Given the description of an element on the screen output the (x, y) to click on. 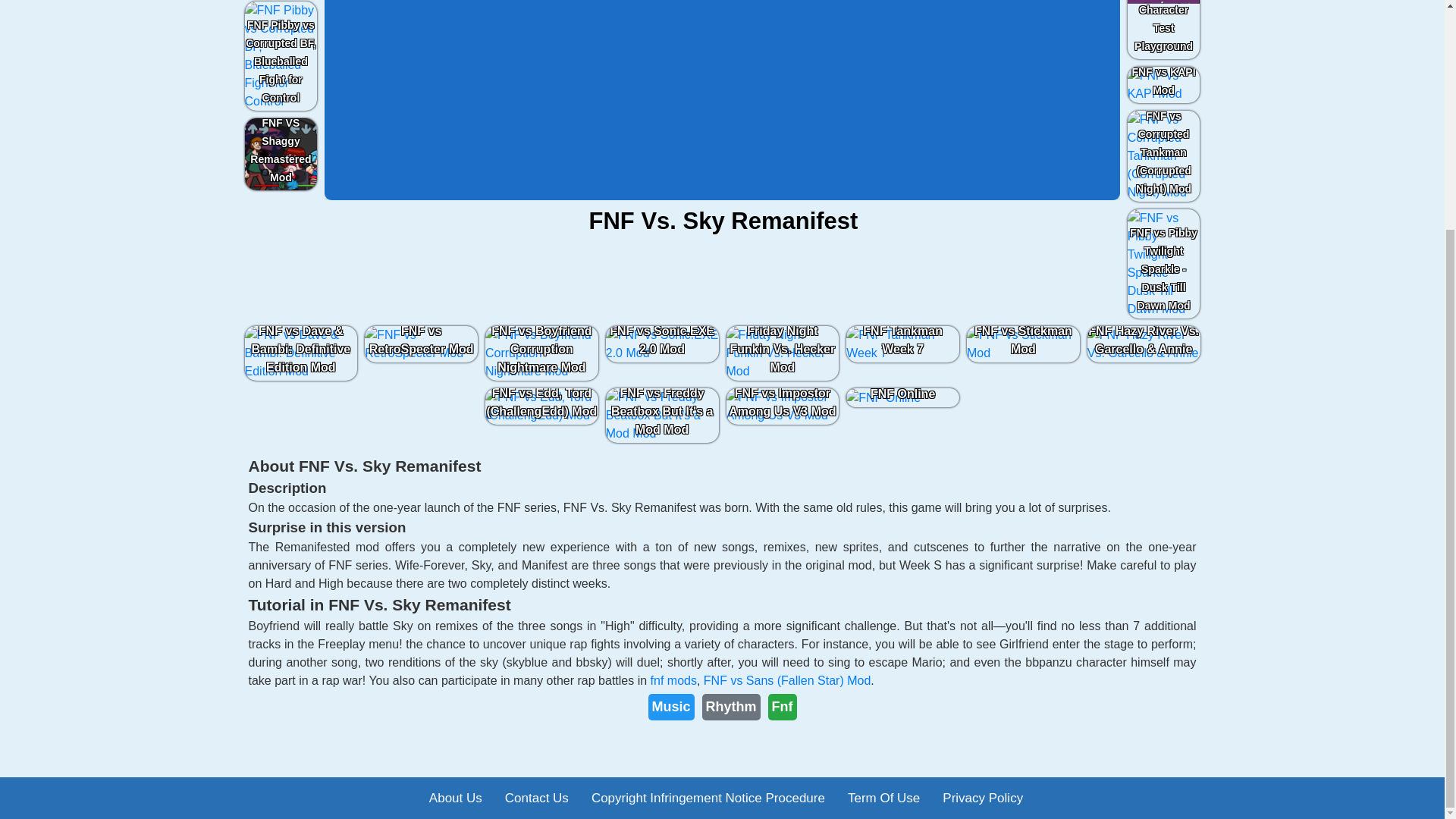
Friday Night Funkin Vs. Hecker Mod (782, 352)
FNF Character Test Playground (1164, 29)
FNF vs Sonic.EXE 2.0 Mod (662, 343)
FNF VS Shaggy Remastered Mod (281, 153)
FNF vs Boyfriend Corruption Nightmare Mod (541, 352)
FNF vs KAPI Mod (1162, 84)
FNF vs Stickman Mod (1022, 343)
FNF Character Test Playground (1162, 29)
FNF vs RetroSpecter Mod (421, 343)
FNF vs KAPI Mod (1164, 84)
FNF VS Shaggy Remastered Mod (280, 153)
FNF Tankman Week 7 (902, 343)
